Given the description of an element on the screen output the (x, y) to click on. 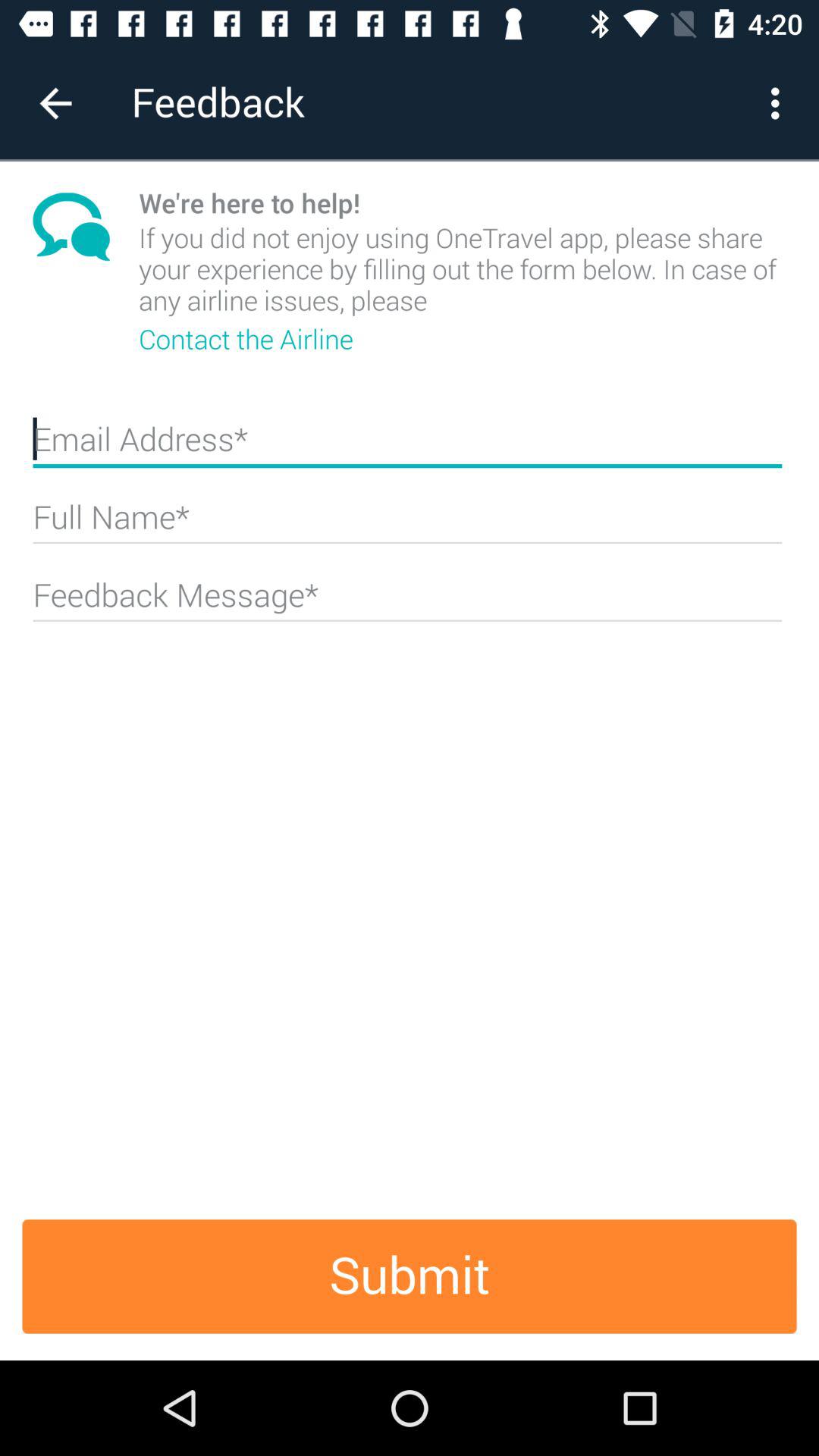
press the icon next to feedback (55, 103)
